Given the description of an element on the screen output the (x, y) to click on. 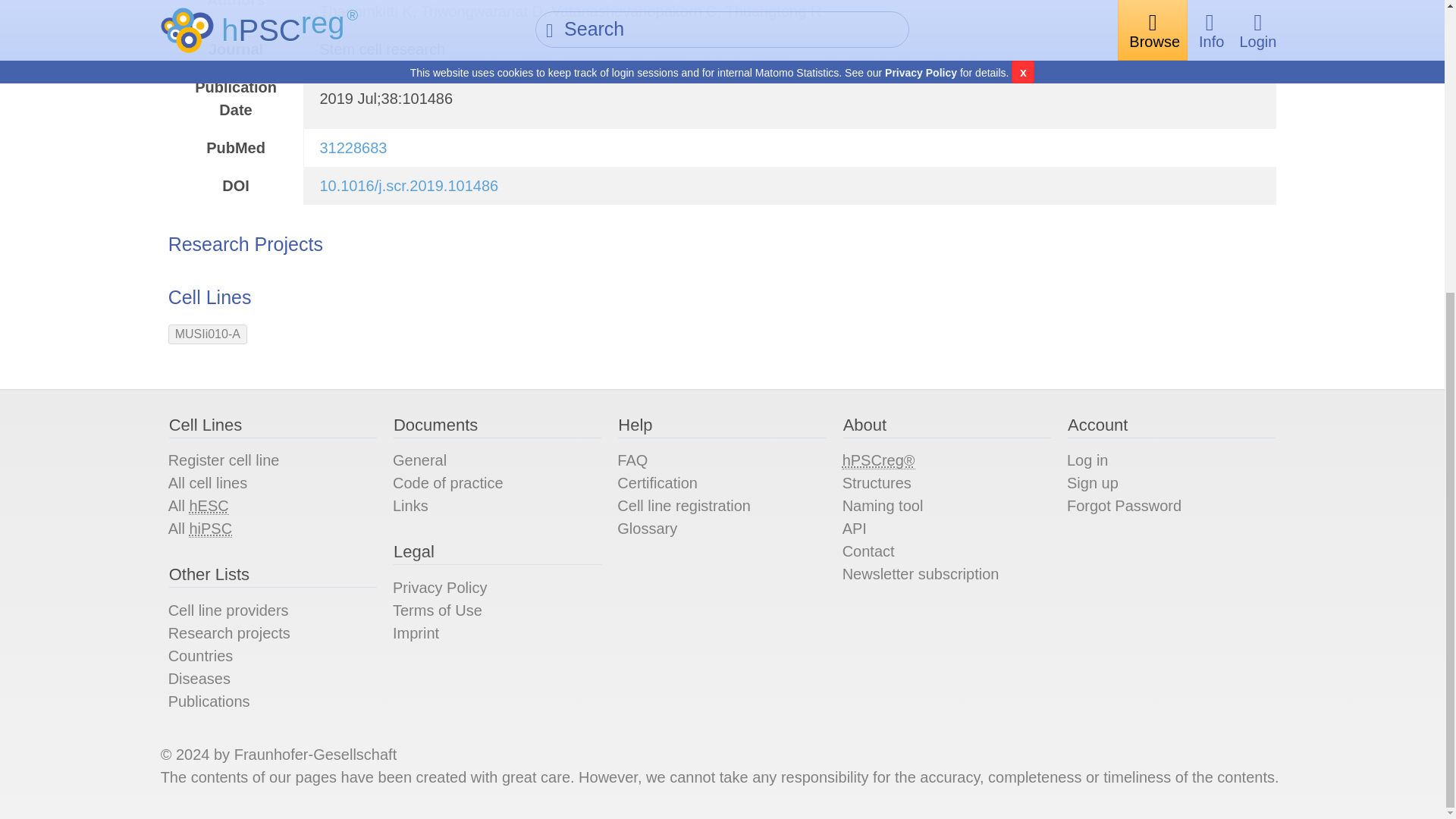
Human induced pluripotent stem cells (210, 528)
Human Pluripotent Stem Cell Registry (879, 460)
Human embryonic stem cells (208, 506)
31228683 (352, 147)
